Given the description of an element on the screen output the (x, y) to click on. 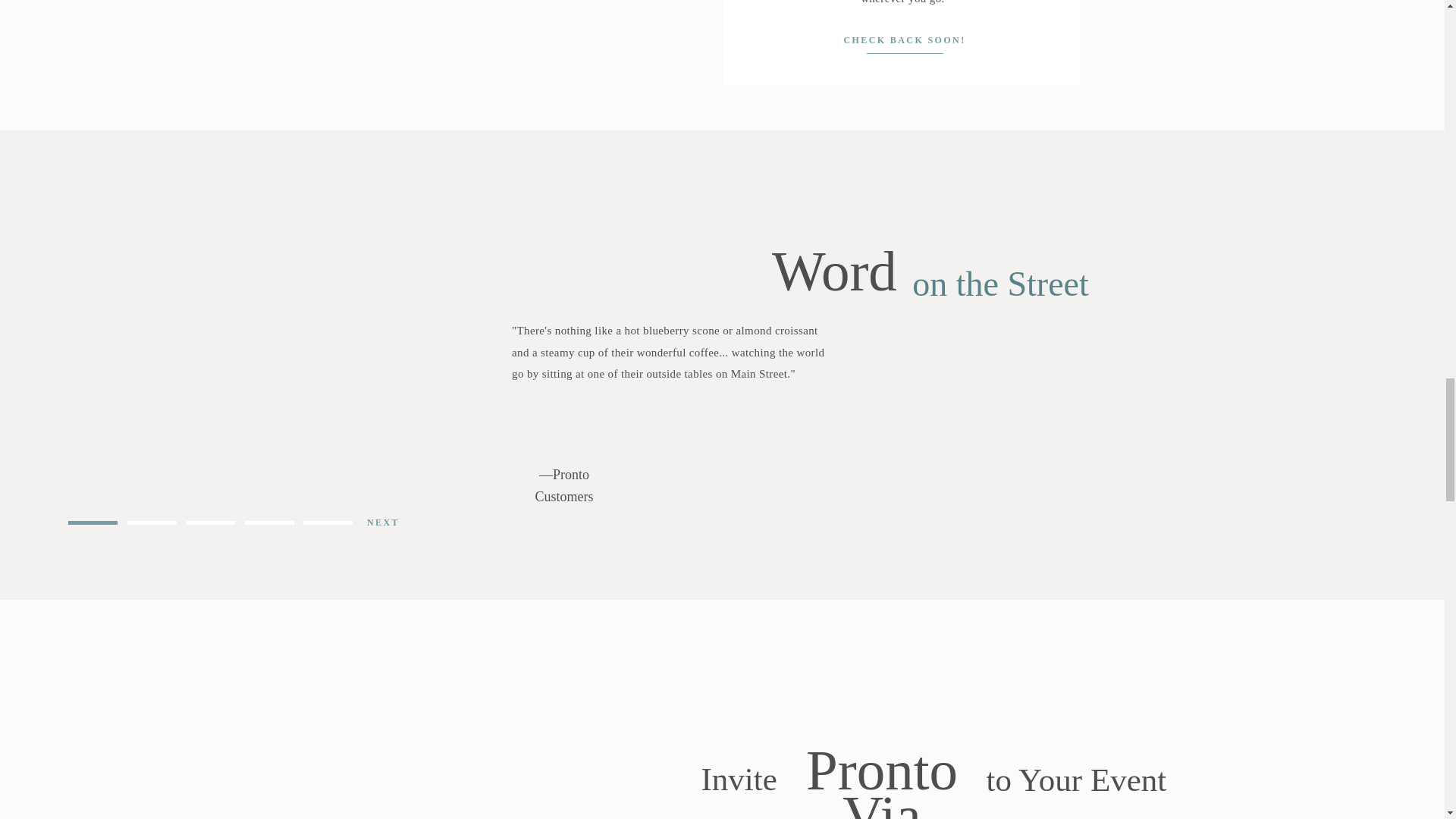
to Your Event (1077, 777)
Invite (739, 776)
NEXT (383, 521)
